Given the description of an element on the screen output the (x, y) to click on. 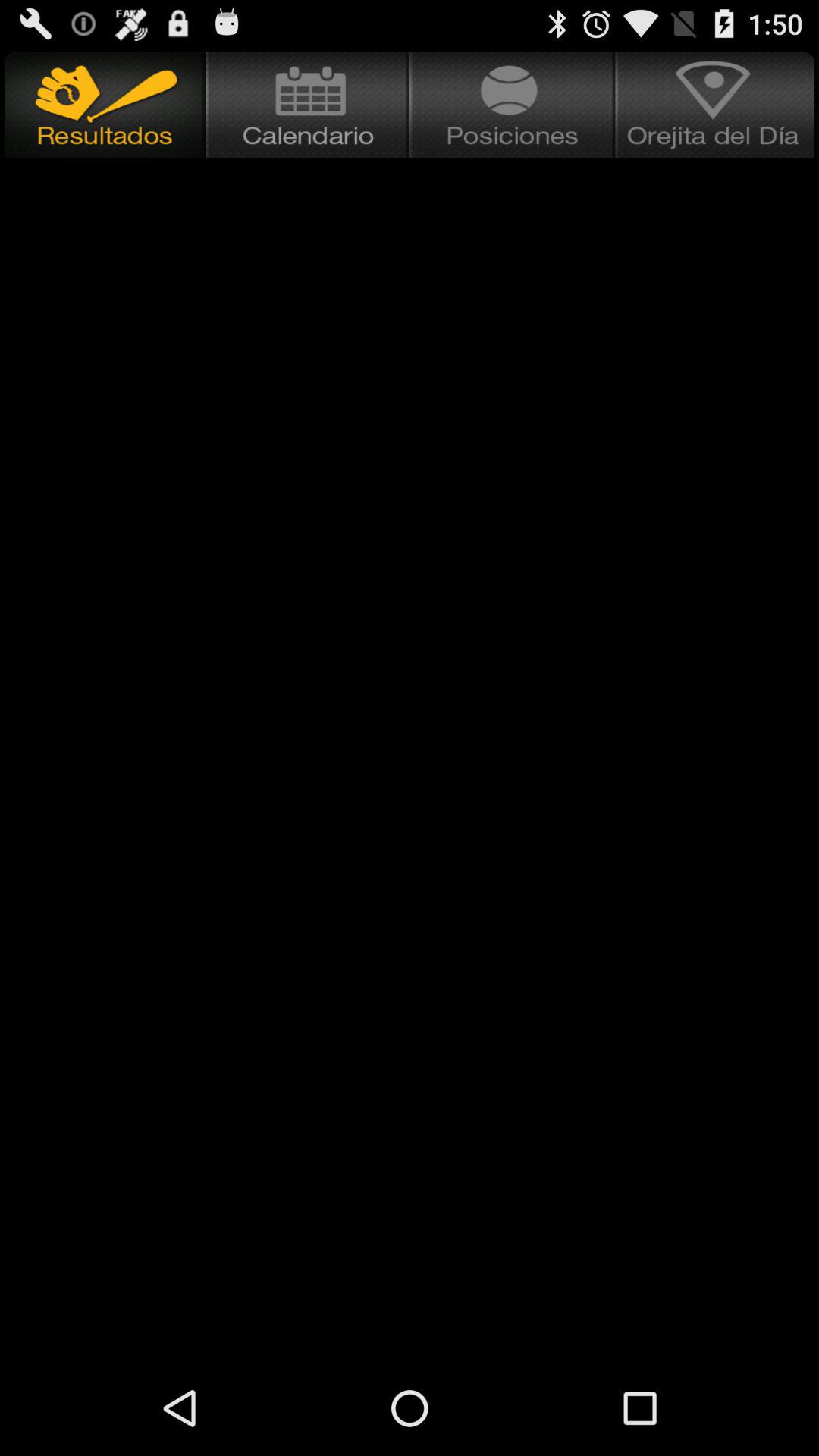
check the calender (307, 104)
